Given the description of an element on the screen output the (x, y) to click on. 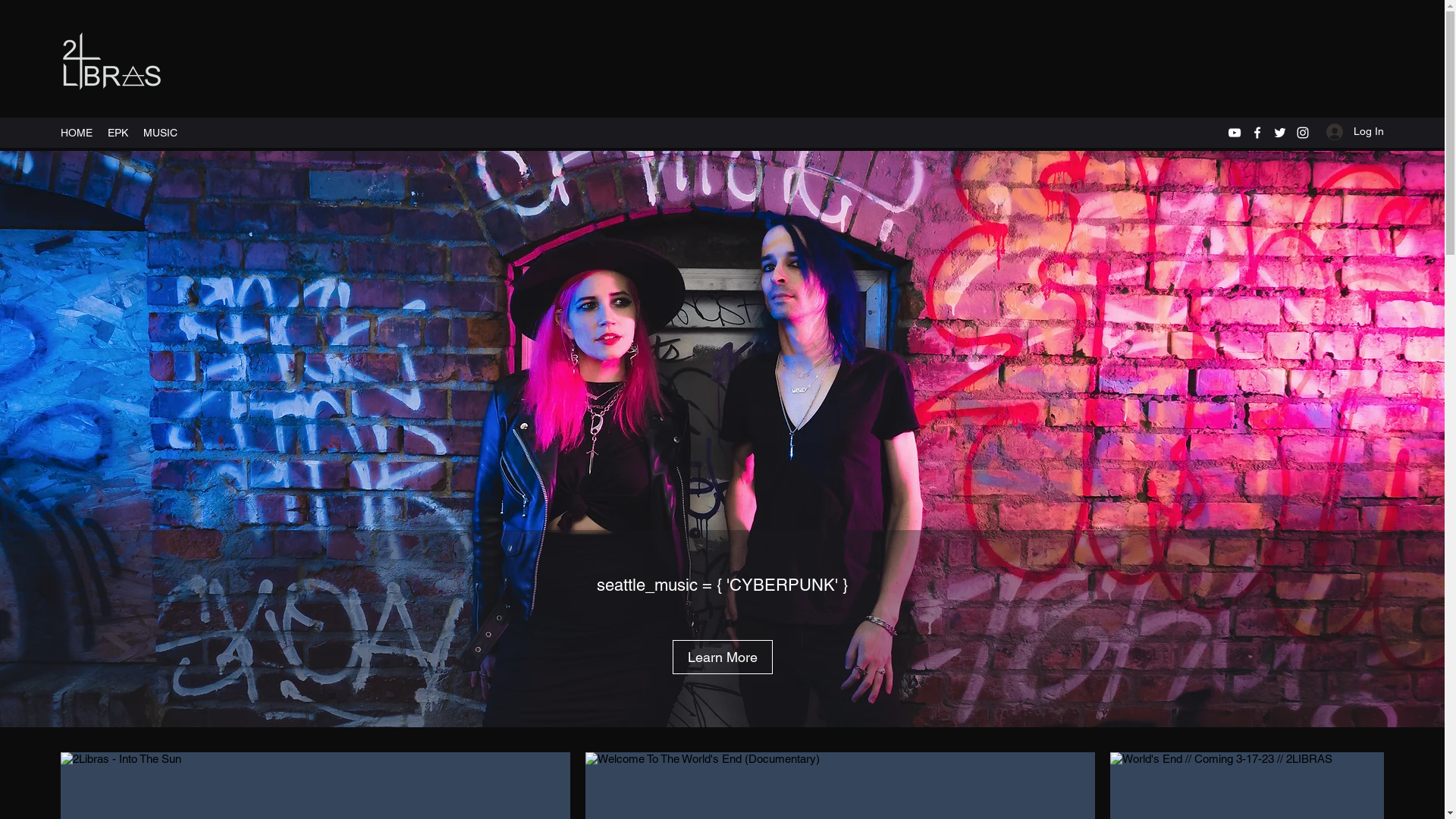
HOME Element type: text (76, 132)
MUSIC Element type: text (160, 132)
Learn More Element type: text (721, 657)
EPK Element type: text (117, 132)
Log In Element type: text (1349, 131)
